Given the description of an element on the screen output the (x, y) to click on. 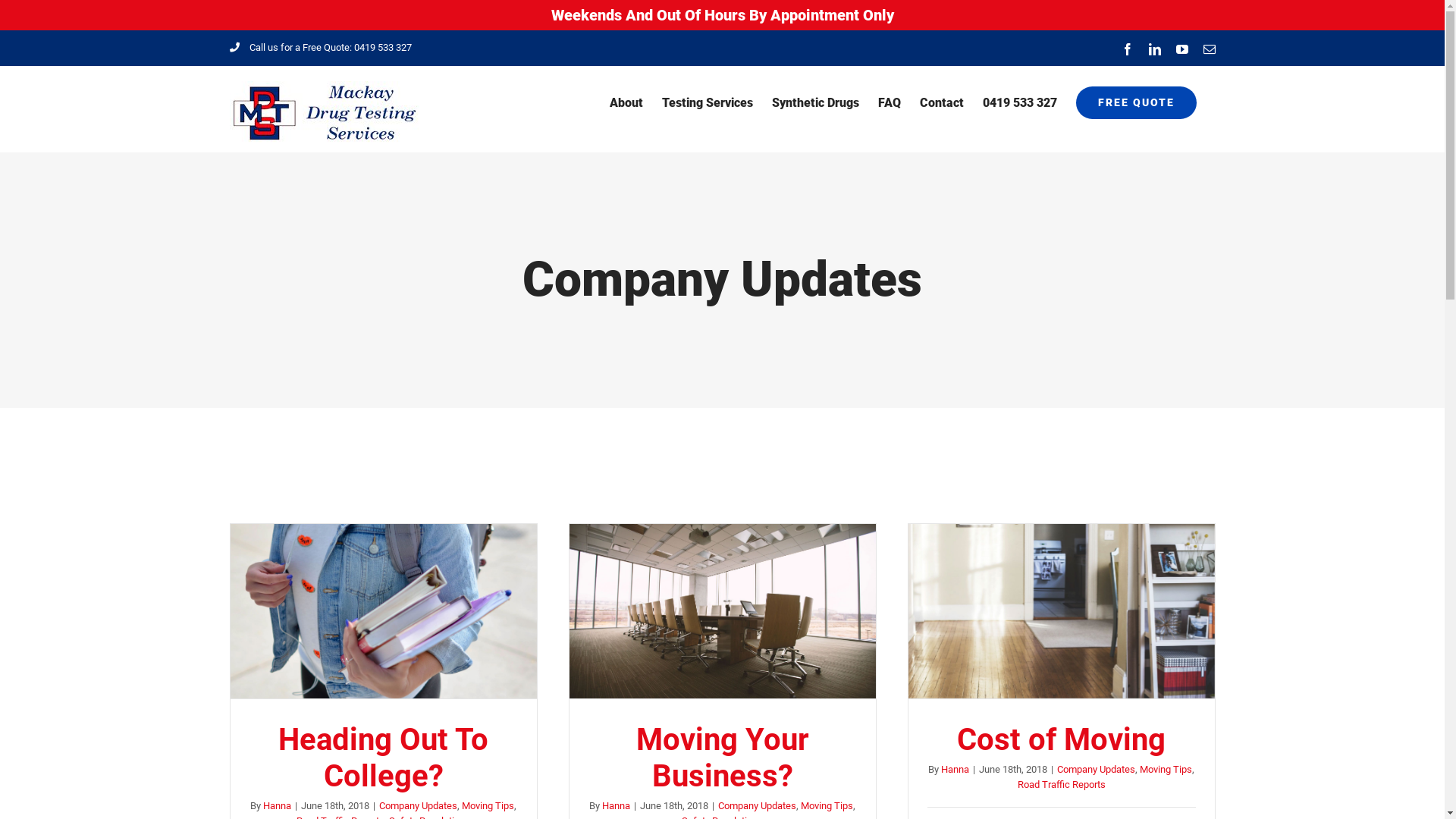
Hanna Element type: text (616, 805)
Company Updates Element type: text (418, 805)
Synthetic Drugs Element type: text (815, 102)
FREE QUOTE Element type: text (1135, 102)
Email Element type: text (1208, 48)
Call us for a Free Quote: 0419 533 327 Element type: text (320, 47)
LinkedIn Element type: text (1154, 48)
About Element type: text (626, 102)
Company Updates Element type: text (757, 805)
Moving Tips Element type: text (487, 805)
YouTube Element type: text (1181, 48)
Road Traffic Reports Element type: text (1061, 784)
0419 533 327 Element type: text (1019, 102)
Moving Your Business? Element type: text (722, 757)
Testing Services Element type: text (706, 102)
Heading Out To College? Element type: text (383, 757)
Company Updates Element type: text (1096, 769)
Hanna Element type: text (955, 769)
Moving Tips Element type: text (1165, 769)
Hanna Element type: text (277, 805)
Facebook Element type: text (1126, 48)
FAQ Element type: text (889, 102)
Cost of Moving Element type: text (1061, 739)
Moving Tips Element type: text (826, 805)
Contact Element type: text (941, 102)
